Given the description of an element on the screen output the (x, y) to click on. 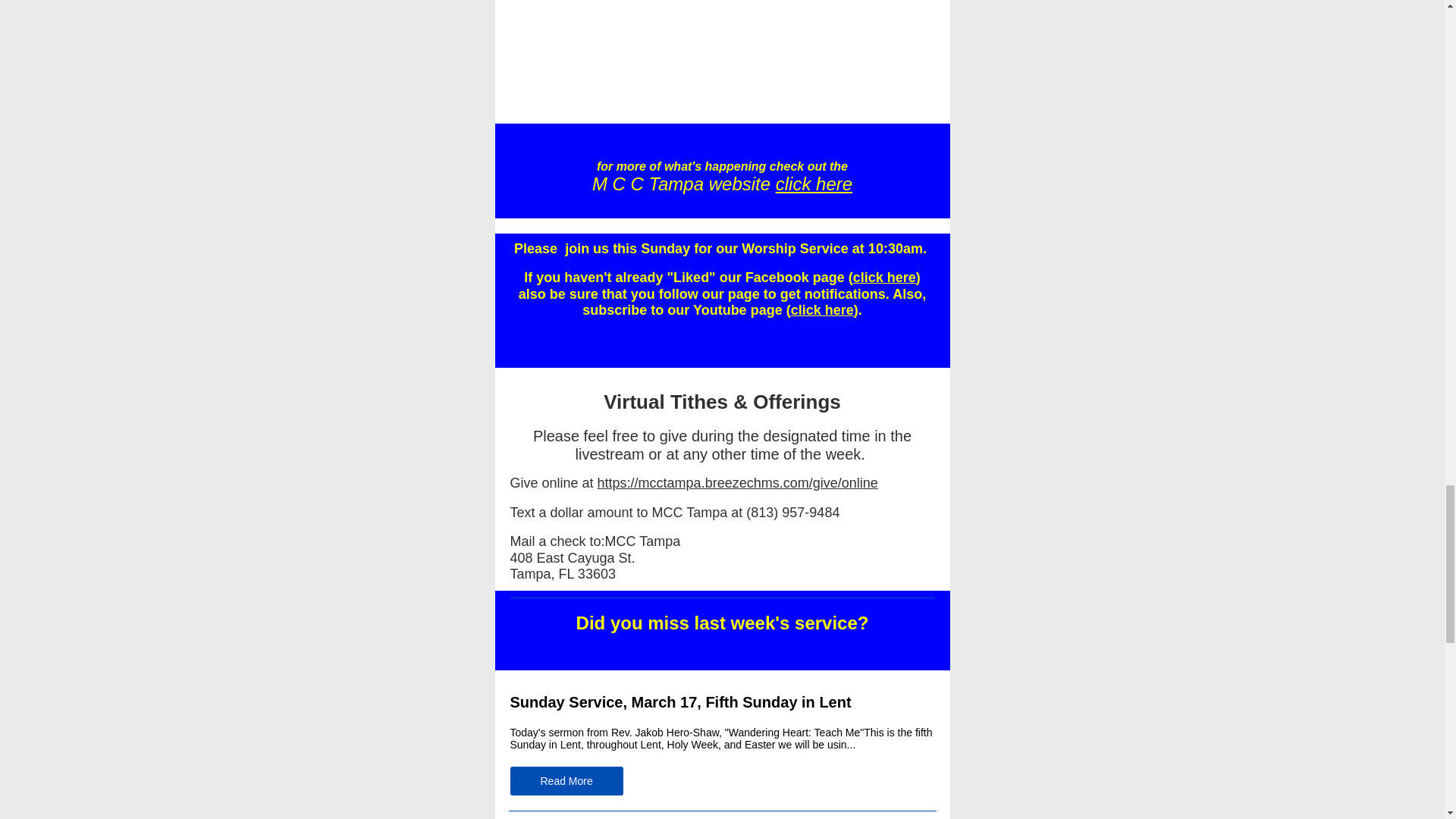
Read More (566, 780)
click here (813, 183)
click here (884, 277)
click here (821, 309)
